Given the description of an element on the screen output the (x, y) to click on. 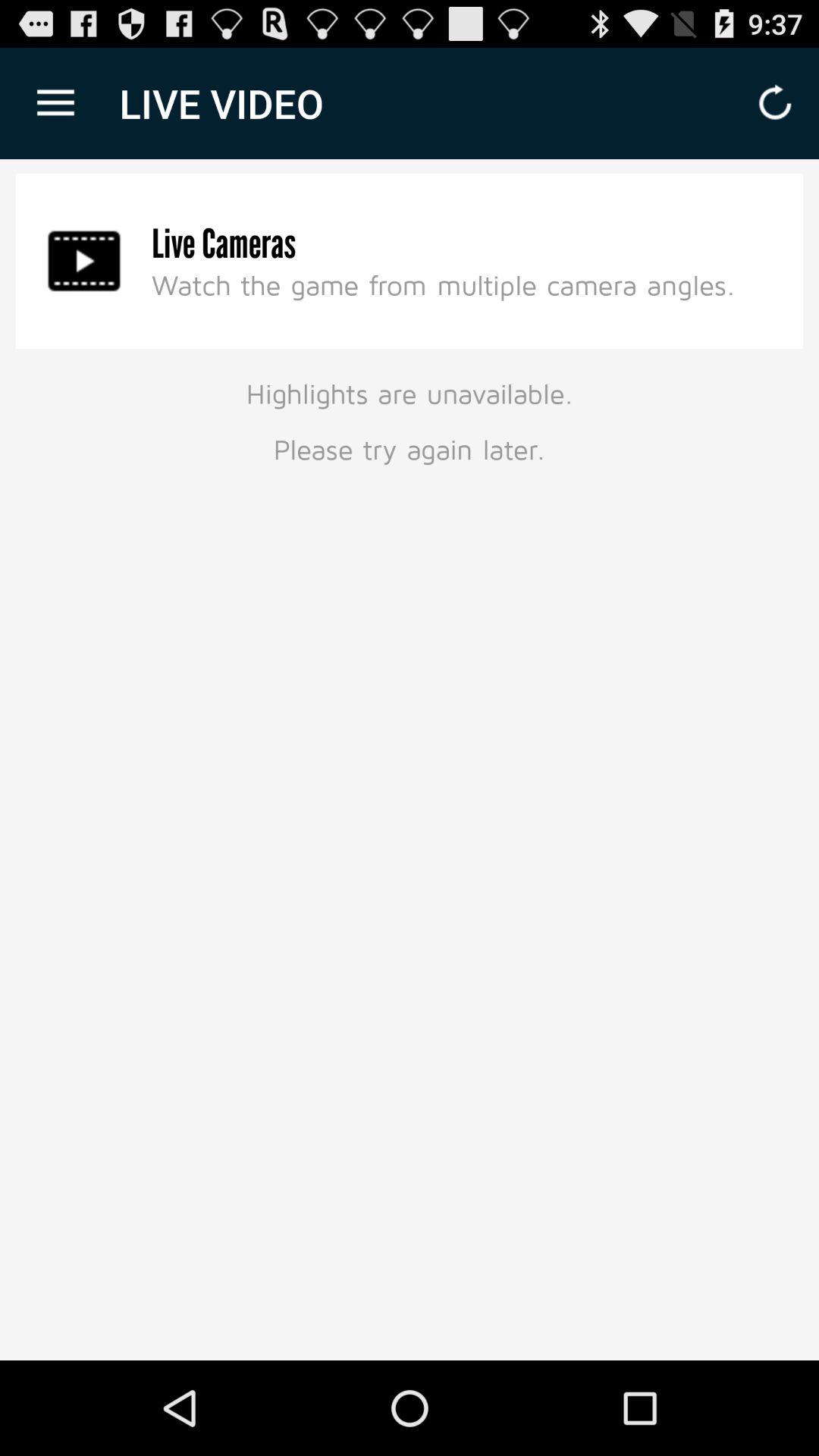
open the item below the live video icon (223, 243)
